Given the description of an element on the screen output the (x, y) to click on. 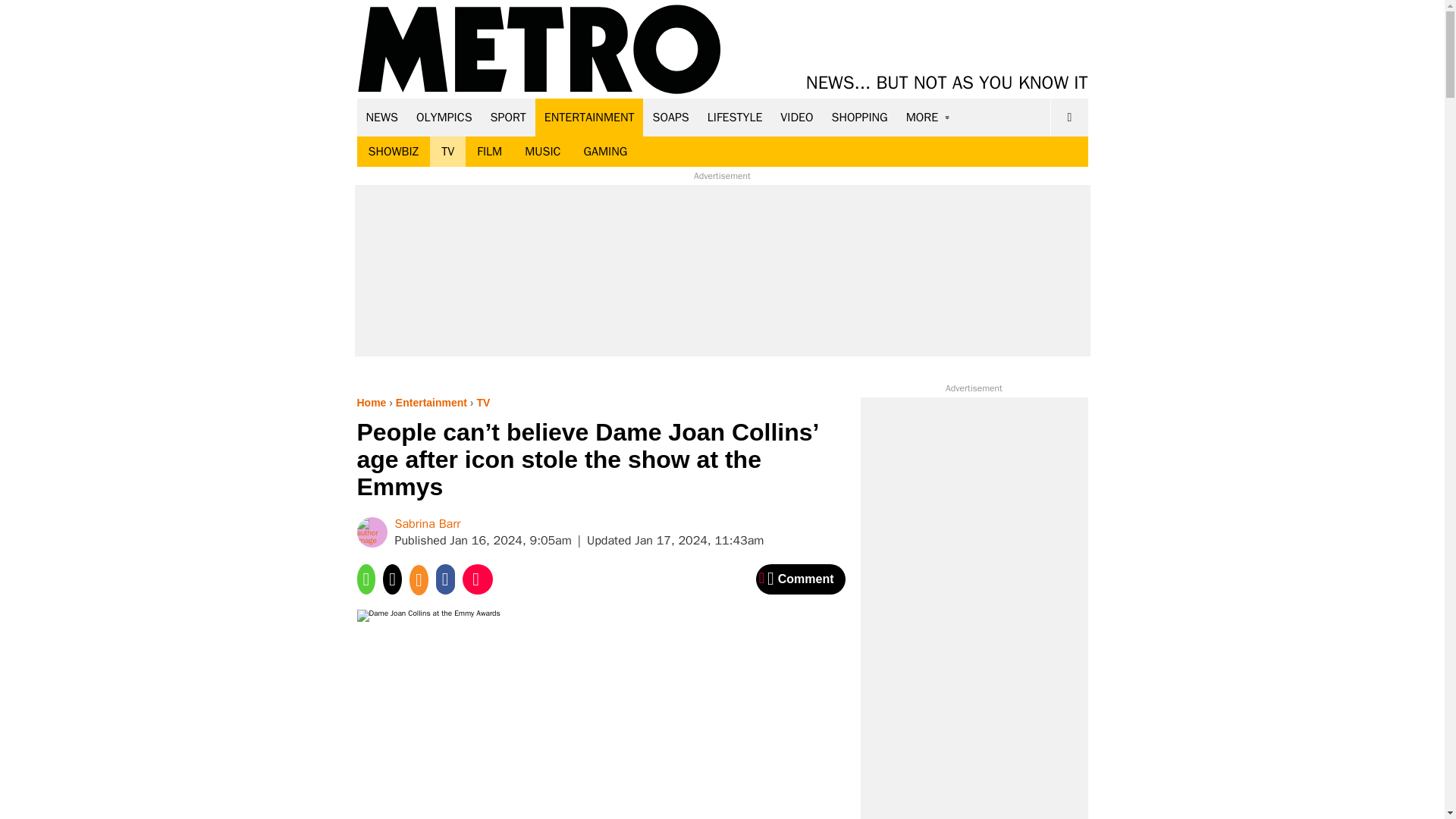
Metro (539, 50)
MUSIC (542, 151)
SPORT (508, 117)
LIFESTYLE (734, 117)
GAMING (605, 151)
SHOWBIZ (392, 151)
NEWS (381, 117)
OLYMPICS (444, 117)
FILM (489, 151)
ENTERTAINMENT (589, 117)
